Given the description of an element on the screen output the (x, y) to click on. 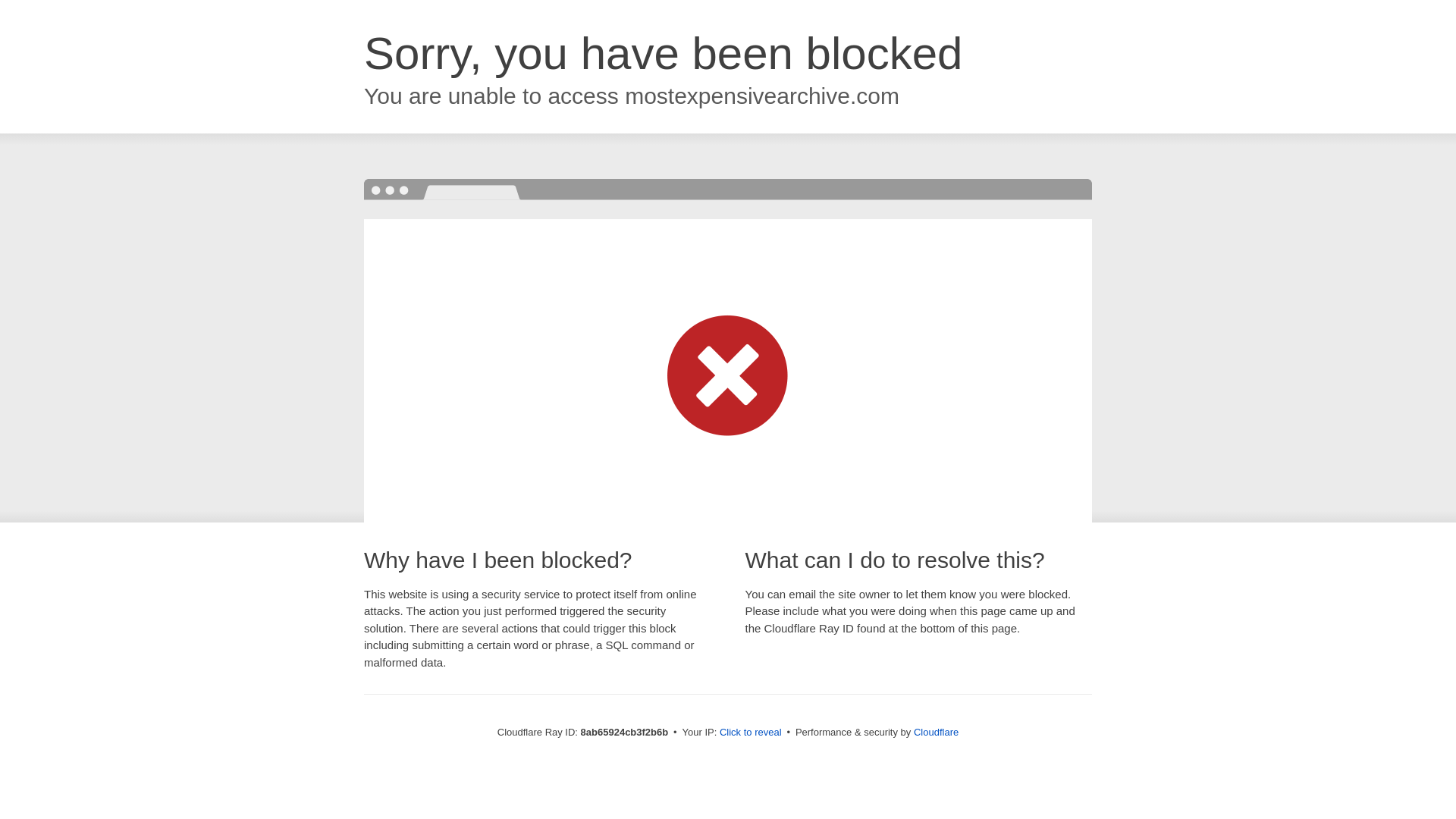
Click to reveal (750, 732)
Cloudflare (936, 731)
